Given the description of an element on the screen output the (x, y) to click on. 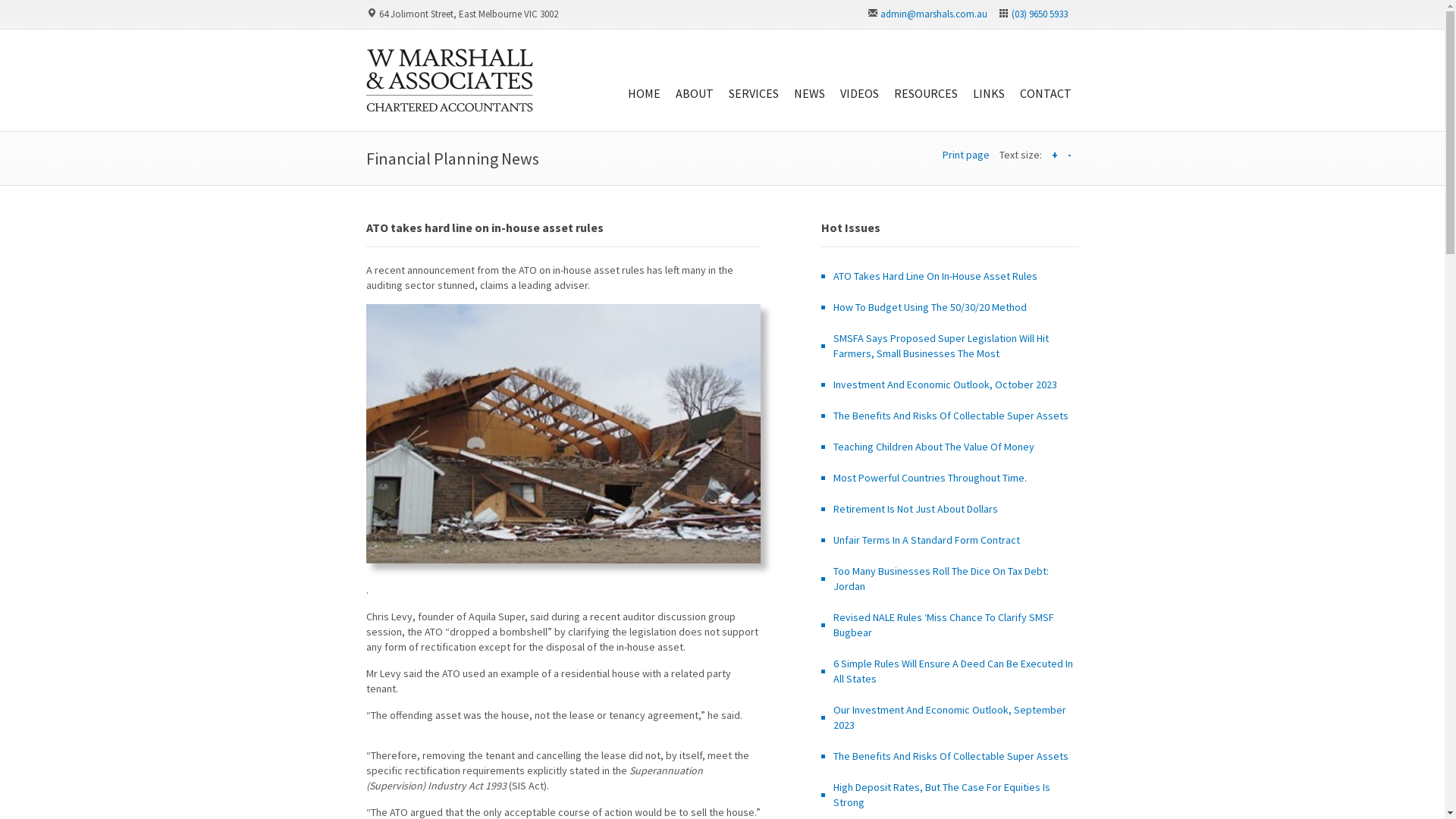
admin@marshals.com.au Element type: text (932, 13)
Investment And Economic Outlook, October 2023 Element type: text (944, 384)
- Element type: text (1069, 154)
Our Investment And Economic Outlook, September 2023 Element type: text (948, 716)
High Deposit Rates, But The Case For Equities Is Strong Element type: text (940, 794)
Too Many Businesses Roll The Dice On Tax Debt: Jordan Element type: text (940, 578)
Retirement Is Not Just About Dollars Element type: text (914, 508)
VIDEOS Element type: text (859, 72)
NEWS Element type: text (808, 72)
Teaching Children About The Value Of Money Element type: text (932, 446)
SERVICES Element type: text (752, 72)
The Benefits And Risks Of Collectable Super Assets Element type: text (949, 755)
+ Element type: text (1054, 154)
(03) 9650 5933 Element type: text (1039, 13)
How To Budget Using The 50/30/20 Method Element type: text (929, 306)
Most Powerful Countries Throughout Time. Element type: text (929, 477)
ATO Takes Hard Line On In-House Asset Rules Element type: text (934, 275)
ABOUT Element type: text (693, 72)
HOME Element type: text (644, 72)
LINKS Element type: text (987, 72)
Print page Element type: text (964, 154)
The Benefits And Risks Of Collectable Super Assets Element type: text (949, 415)
RESOURCES Element type: text (924, 72)
Unfair Terms In A Standard Form Contract Element type: text (925, 539)
CONTACT Element type: text (1044, 72)
